Given the description of an element on the screen output the (x, y) to click on. 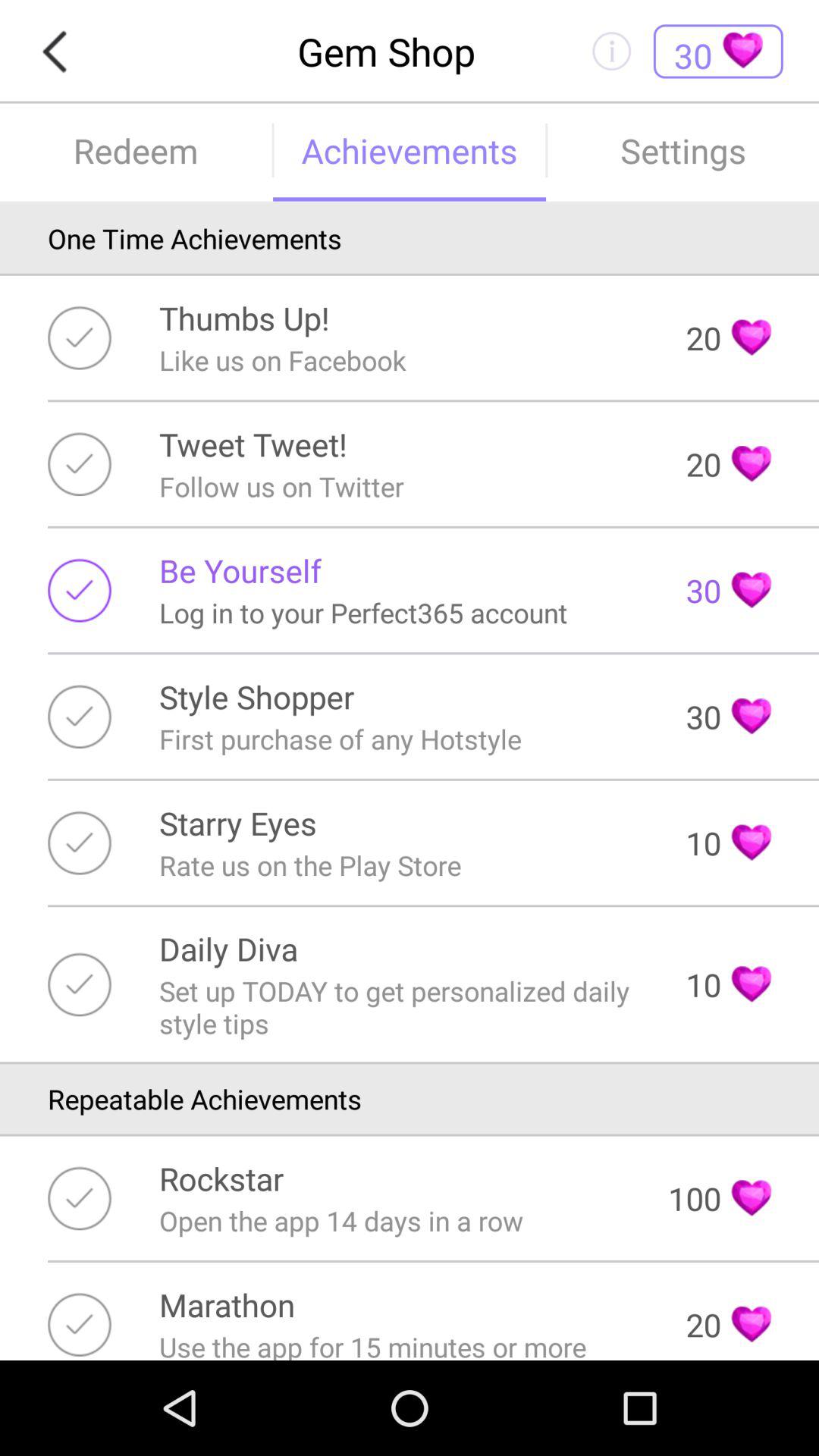
choose the icon next to 100 (221, 1178)
